Given the description of an element on the screen output the (x, y) to click on. 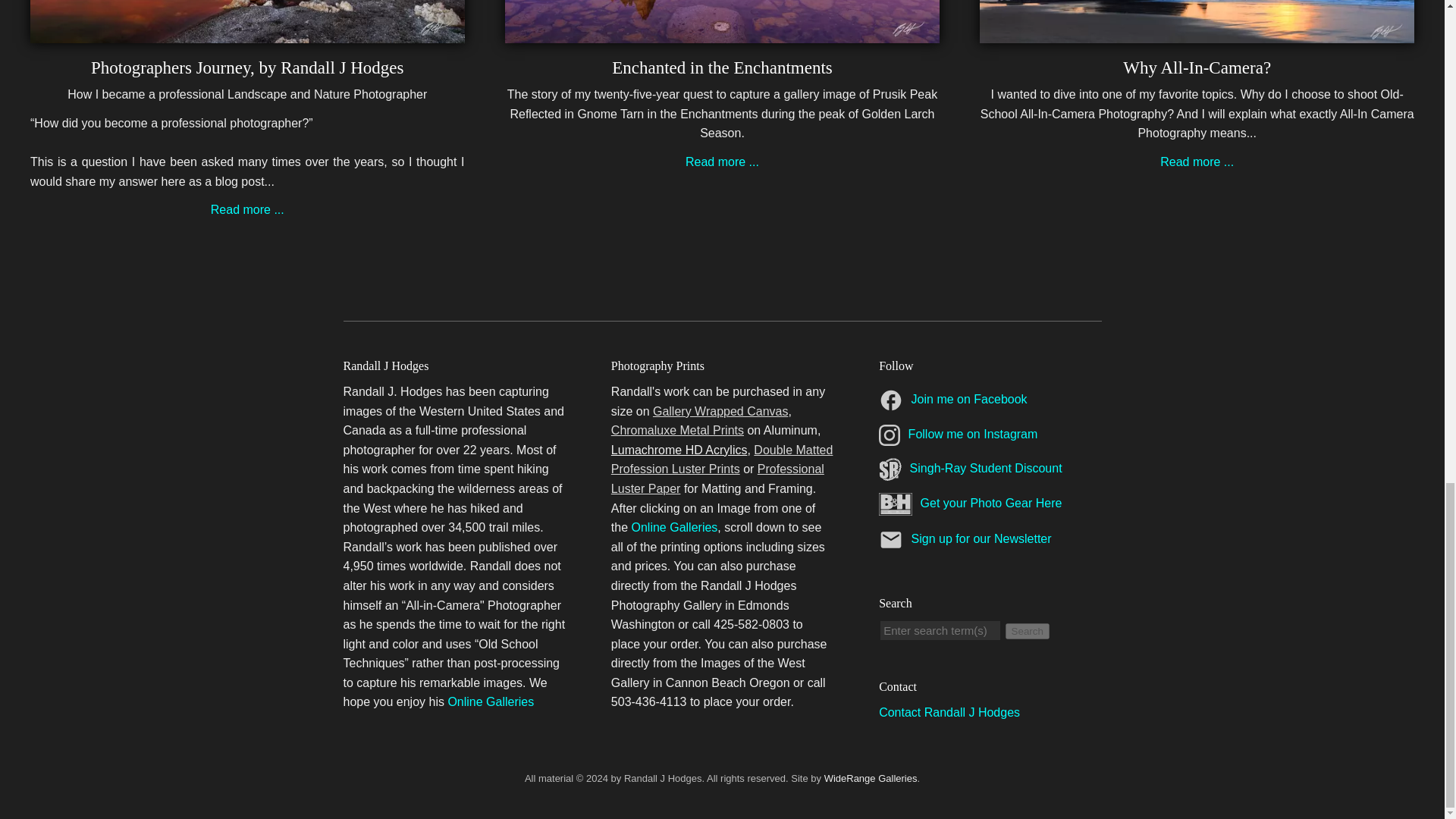
Lumachrome HD Acrylics (679, 449)
Chromaluxe Metal Prints (677, 430)
Professional Luster Paper (717, 478)
Photographers Journey, by Randall J Hodges (246, 67)
Online Galleries (490, 701)
Enchanted in The Enchantments, by Randall J Hodges (721, 161)
Why All-In-Camera? (1196, 67)
Gallery Wrapped Canvas (719, 410)
Enchanted in The Enchantments, by Randall J Hodges (721, 67)
Enchanted in The Enchantments, by Randall J Hodges (722, 32)
Double Matted Profession Luster Prints (721, 459)
Instagram icon (889, 435)
Read more ... (1196, 161)
Enchanted in the Enchantments (721, 67)
Read more ... (721, 161)
